Given the description of an element on the screen output the (x, y) to click on. 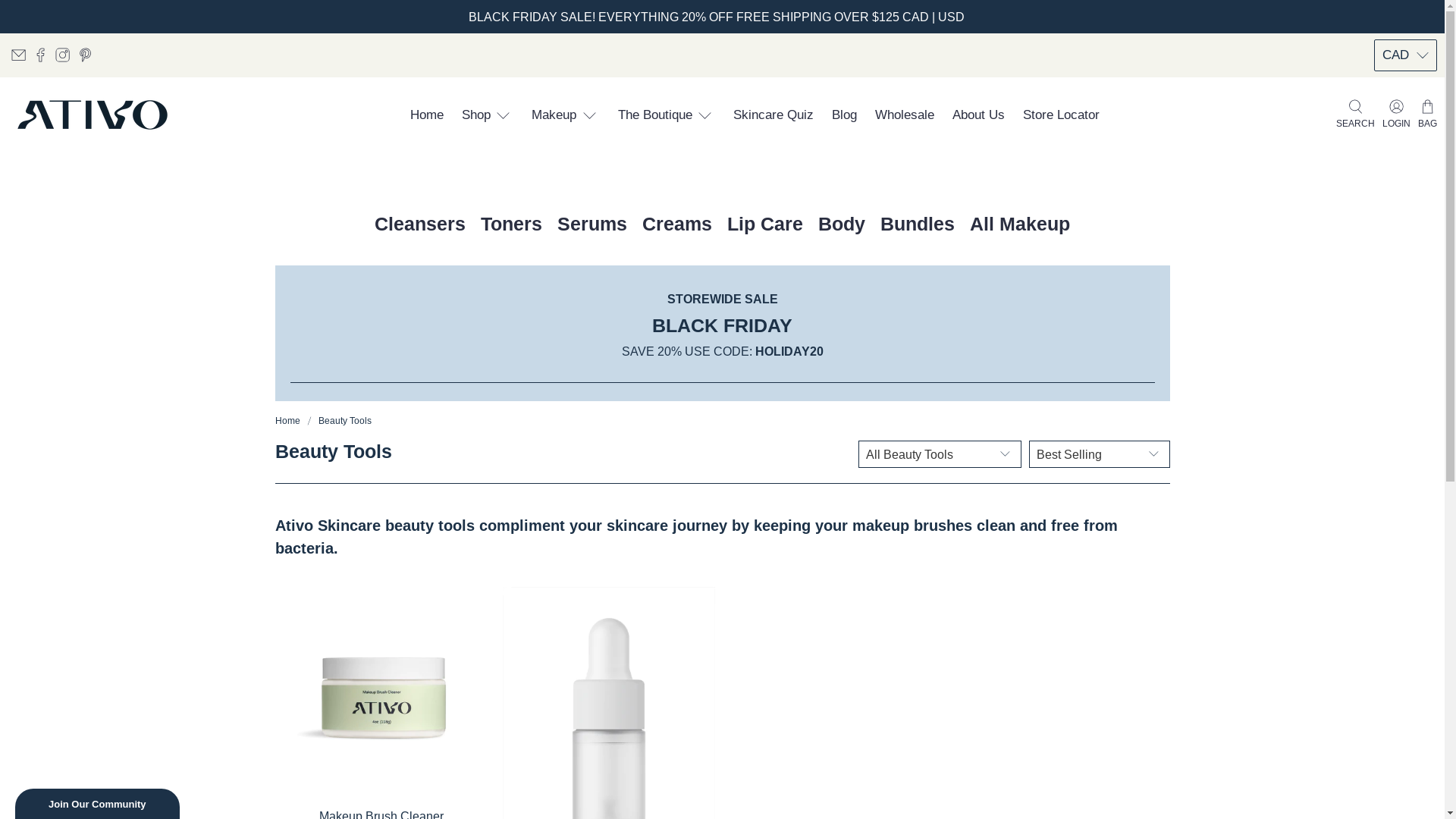
CAD Element type: text (1405, 55)
LOGIN Element type: text (1396, 114)
Store Locator Element type: text (1060, 115)
Email Ativo Skincare Inc Element type: hover (18, 54)
Shop Element type: text (487, 115)
Submit Element type: text (21, 8)
Body Element type: text (841, 224)
Ativo Skincare Inc Element type: hover (92, 114)
SEARCH Element type: text (1355, 114)
Lip Care Element type: text (765, 224)
USD Element type: text (1405, 122)
BAG Element type: text (1427, 114)
CAD Element type: text (1405, 92)
Ativo Skincare Inc on Facebook Element type: hover (40, 54)
Bundles Element type: text (917, 224)
GBP Element type: text (1405, 153)
About Us Element type: text (978, 115)
Ativo Skincare Inc on Pinterest Element type: hover (85, 54)
JPY Element type: text (1405, 244)
Makeup Element type: text (565, 115)
Skincare Quiz Element type: text (773, 115)
Ativo Skincare Inc on Instagram Element type: hover (62, 54)
Serums Element type: text (592, 224)
Creams Element type: text (677, 224)
Beauty Tools Element type: text (344, 420)
EUR Element type: text (1405, 213)
AED Element type: text (1405, 274)
Wholesale Element type: text (904, 115)
Home Element type: text (426, 115)
The Boutique Element type: text (666, 115)
Cleansers Element type: text (419, 224)
All Makeup Element type: text (1019, 224)
Toners Element type: text (511, 224)
AUD Element type: text (1405, 183)
Home Element type: text (286, 420)
Blog Element type: text (844, 115)
